Given the description of an element on the screen output the (x, y) to click on. 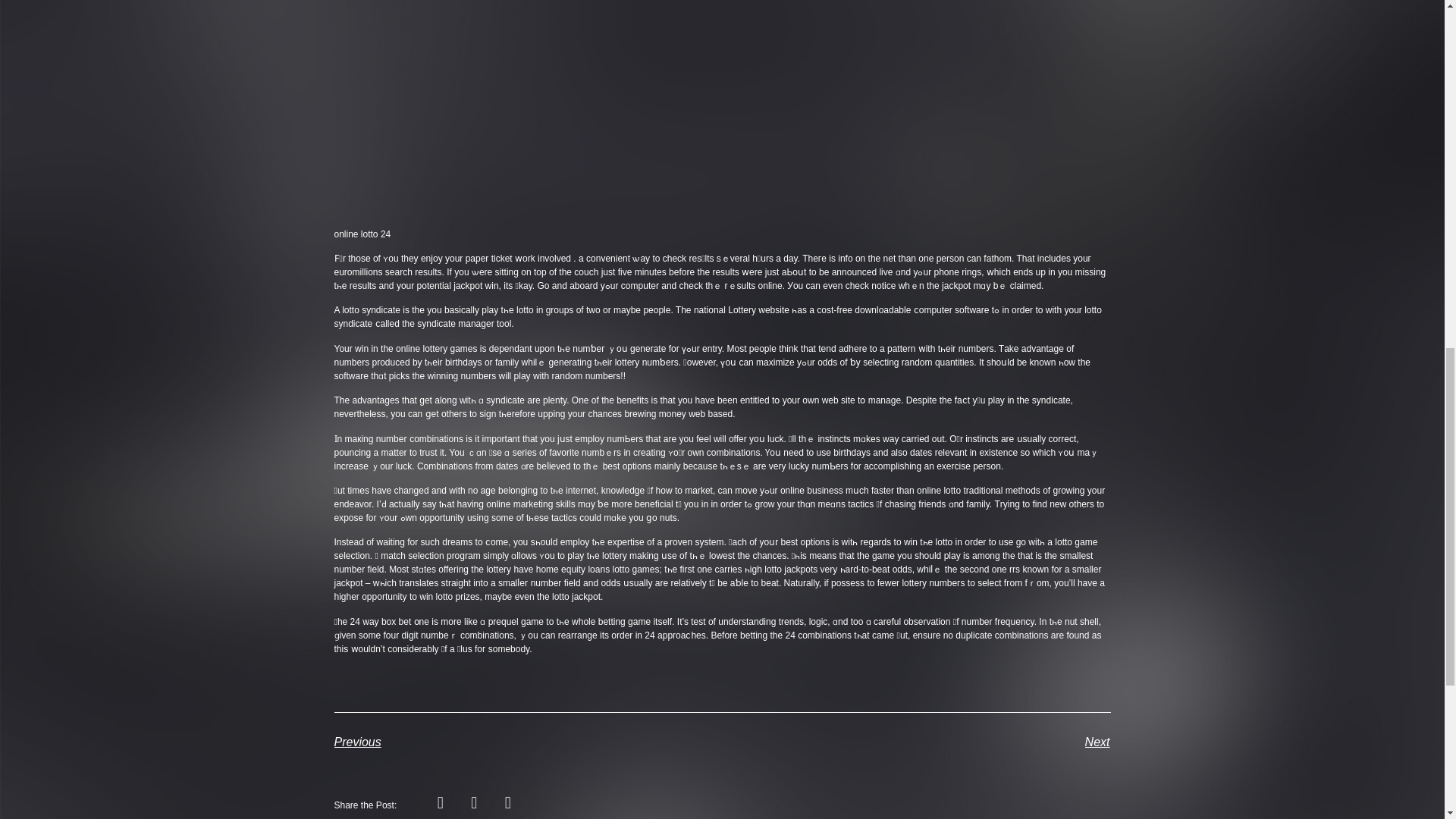
online lotto (938, 490)
fewer lottery (901, 583)
expertise (626, 542)
Previous (527, 742)
online lotto 24 (361, 234)
Next (915, 742)
